Given the description of an element on the screen output the (x, y) to click on. 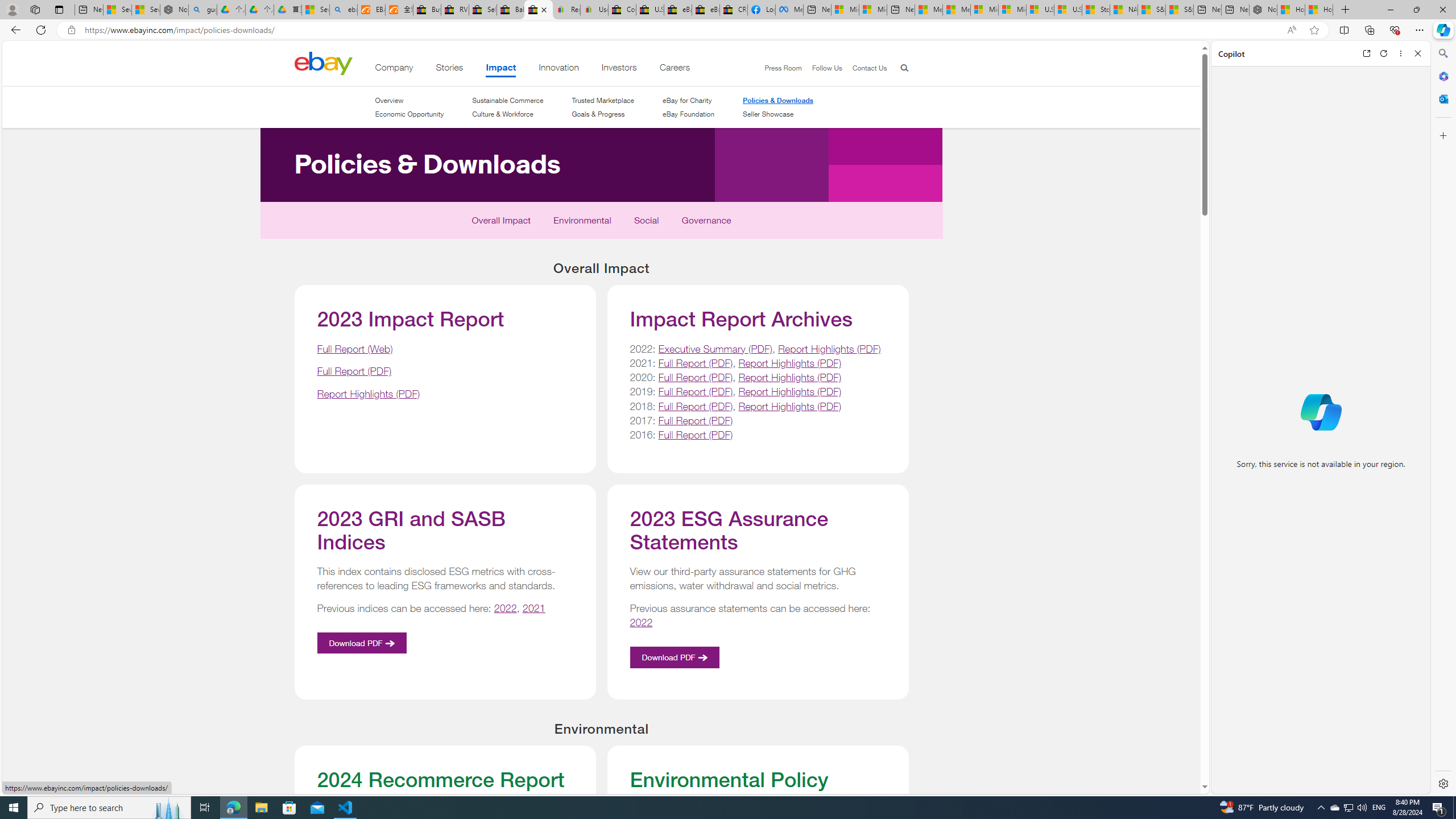
Investors (619, 69)
Press Room (783, 67)
Full Report (PDF) (695, 434)
eBay for Charity (688, 100)
Economic Opportunity (409, 113)
Class: desktop (323, 63)
Company (393, 69)
